Given the description of an element on the screen output the (x, y) to click on. 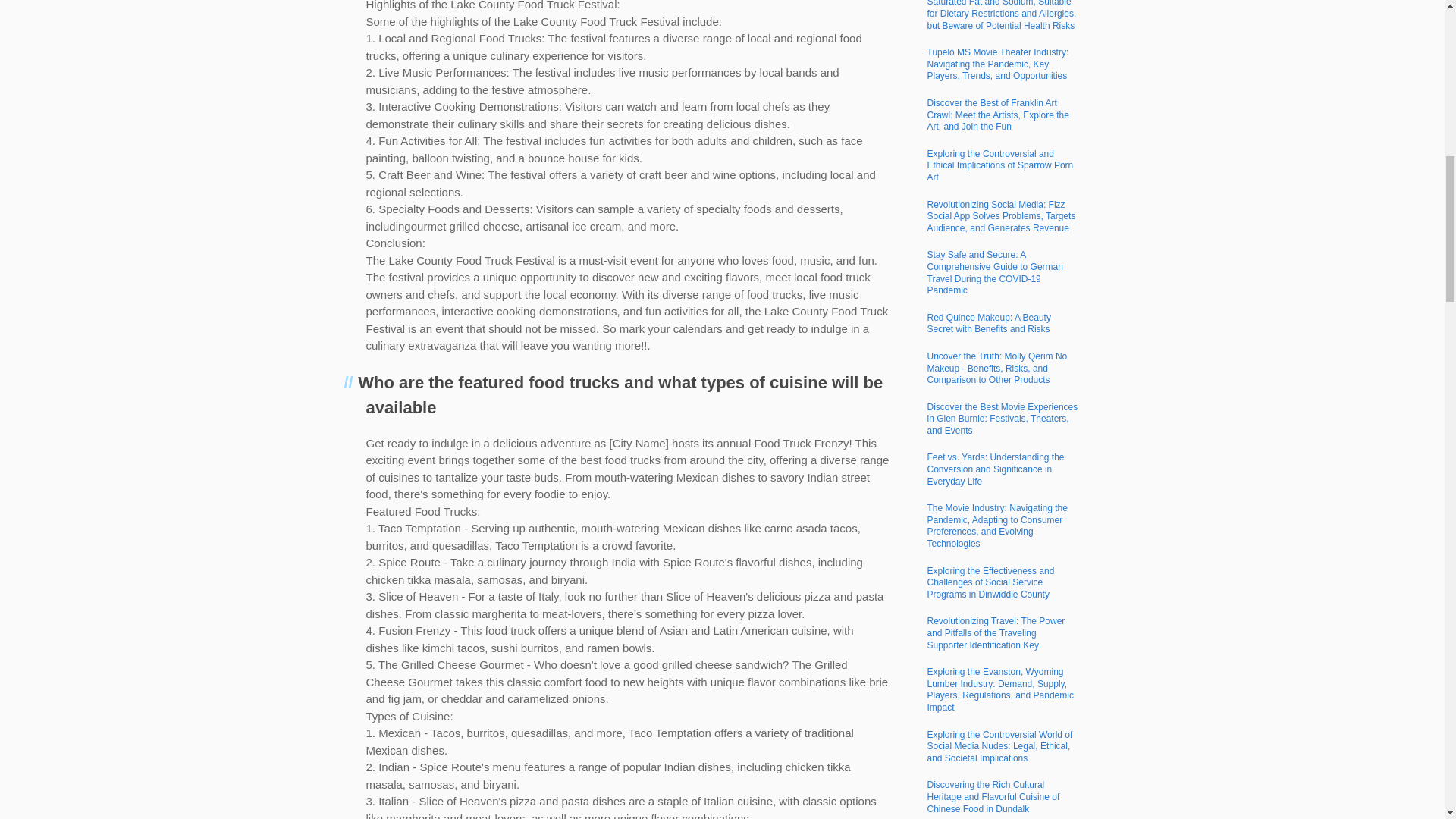
Red Quince Makeup: A Beauty Secret with Benefits and Risks (987, 323)
